Given the description of an element on the screen output the (x, y) to click on. 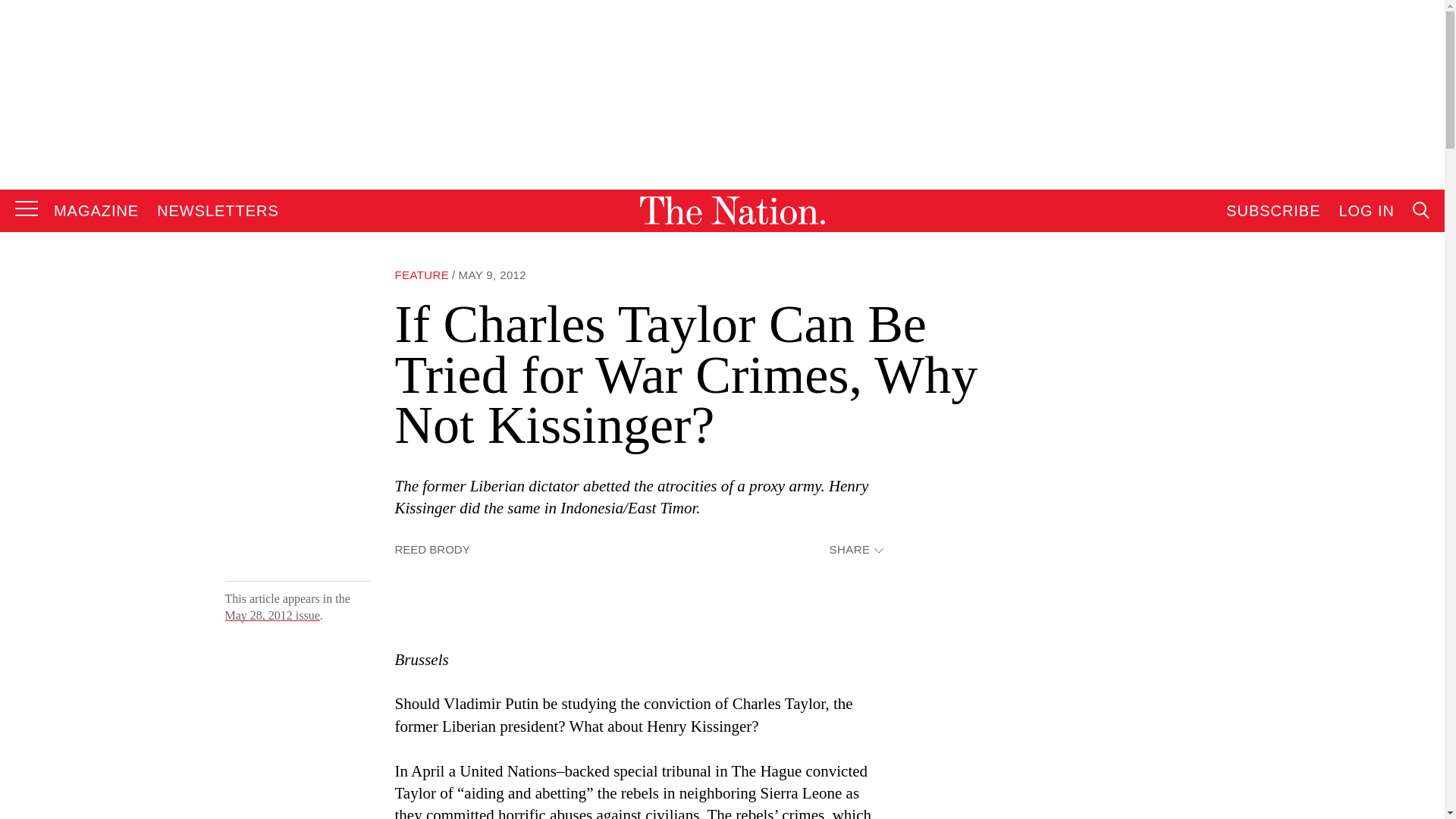
Search (1278, 364)
SUBSCRIBE (1272, 210)
May 28, 2012 issue (271, 615)
LOG IN (1366, 210)
NEWSLETTERS (218, 210)
FEATURE (421, 274)
MAGAZINE (95, 210)
REED BRODY (431, 549)
SHARE (855, 549)
